Given the description of an element on the screen output the (x, y) to click on. 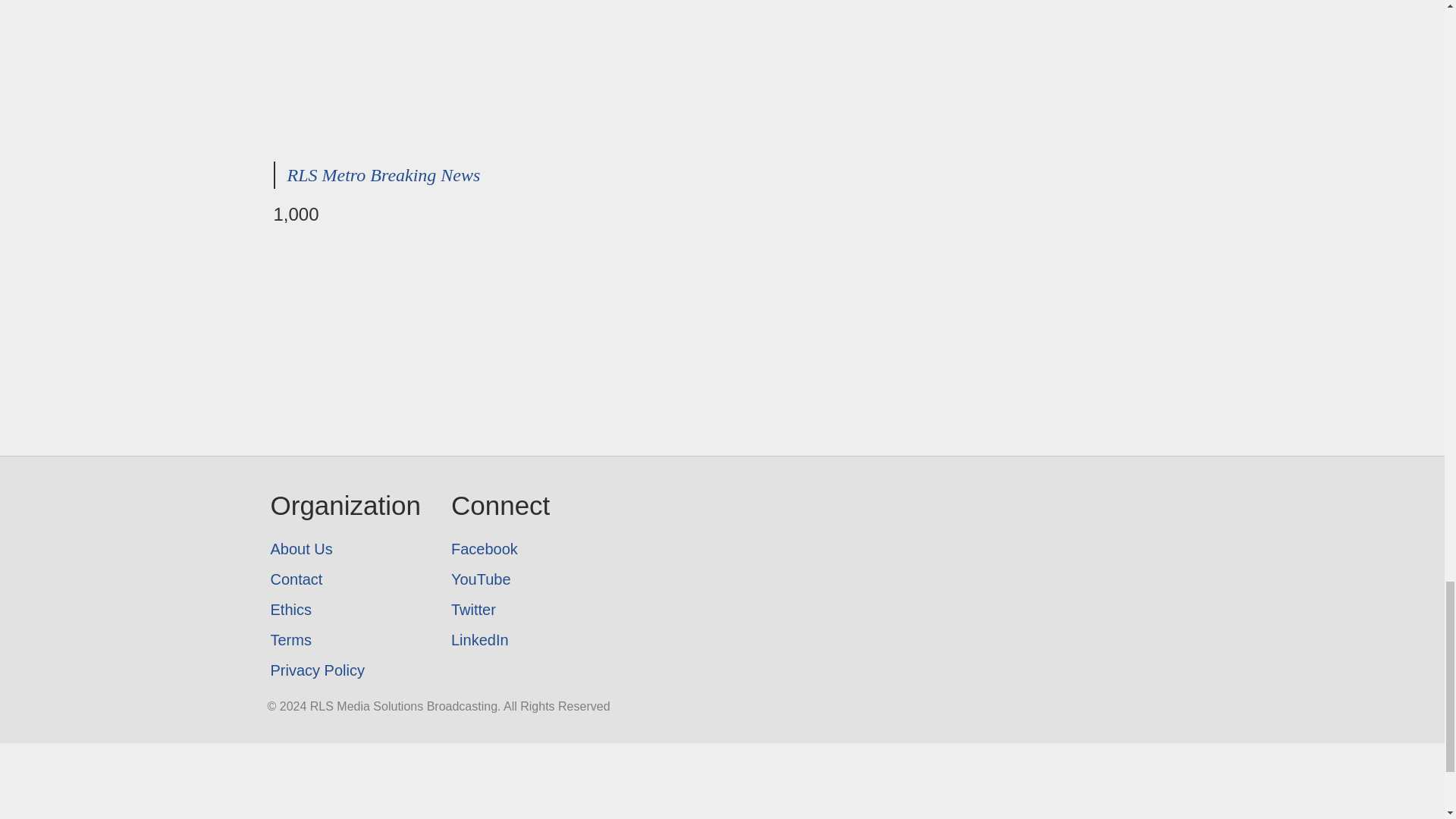
Contact (344, 579)
About Us (344, 548)
Terms (344, 639)
YouTube (500, 579)
Twitter (500, 609)
Privacy Policy (344, 670)
Ethics (344, 609)
Contact Us (344, 579)
Facebook (500, 548)
Advertisement (721, 74)
